Given the description of an element on the screen output the (x, y) to click on. 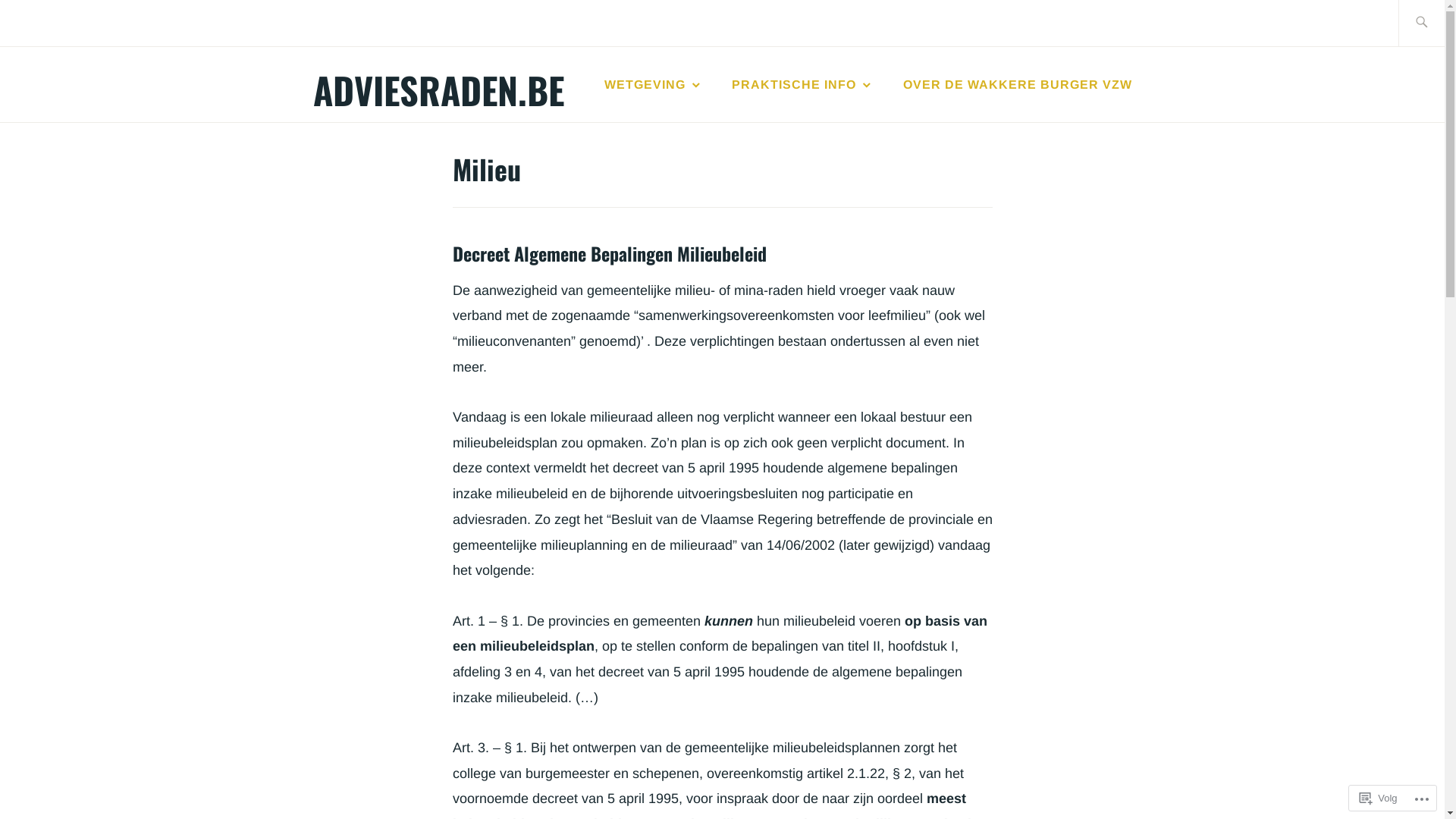
WETGEVING Element type: text (653, 84)
OVER DE WAKKERE BURGER VZW Element type: text (1017, 84)
ADVIESRADEN.BE Element type: text (437, 89)
Volg Element type: text (1377, 797)
PRAKTISCHE INFO Element type: text (802, 84)
Zoeken naar: Element type: hover (1438, 23)
Zoeken Element type: text (47, 21)
